Given the description of an element on the screen output the (x, y) to click on. 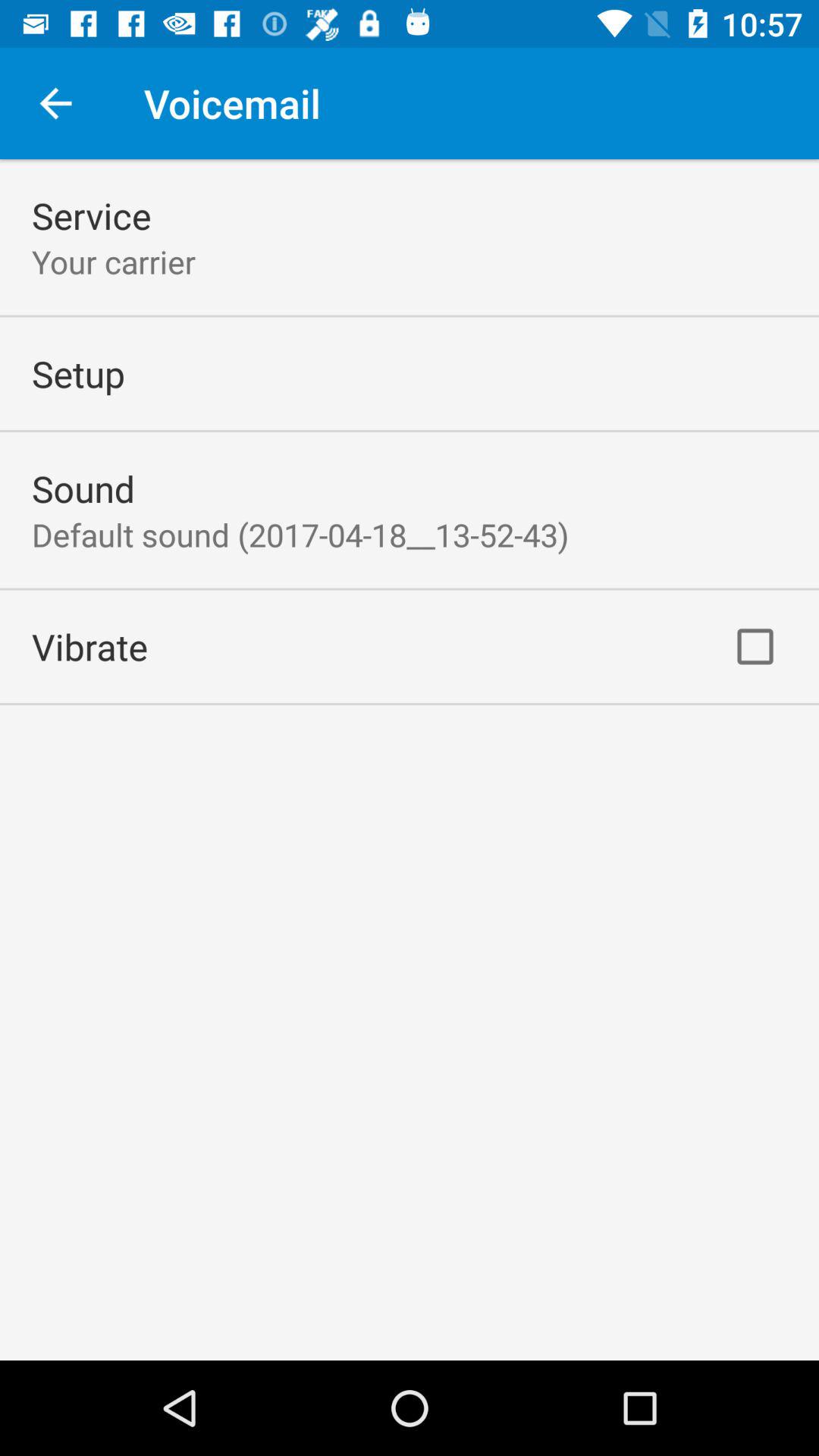
open item above your carrier icon (91, 215)
